Given the description of an element on the screen output the (x, y) to click on. 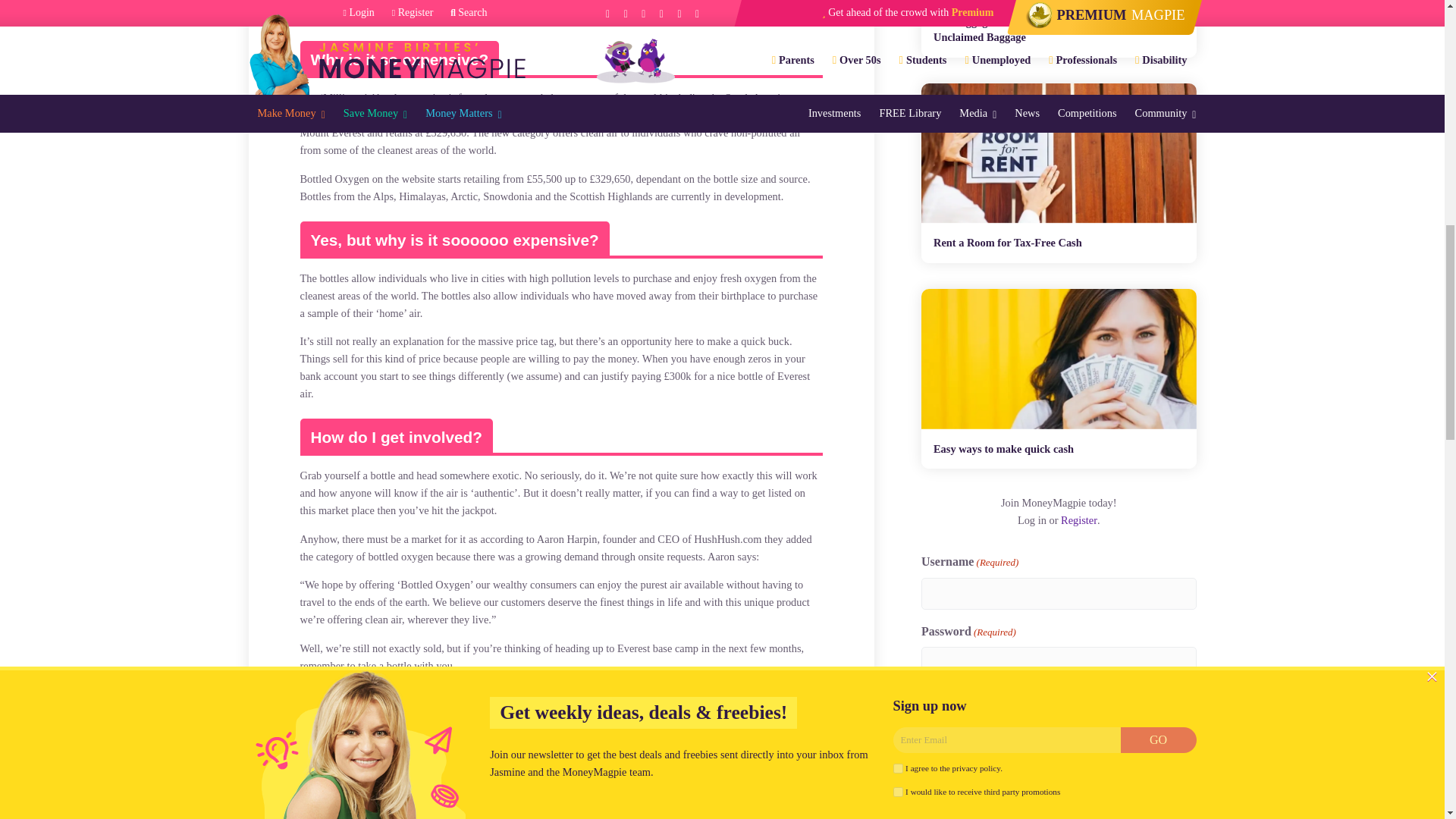
Share on Twitter (399, 710)
Share on Pinterest (442, 710)
1 (926, 700)
Share on Facebook (355, 710)
Login (940, 738)
Share on Email (484, 710)
